Given the description of an element on the screen output the (x, y) to click on. 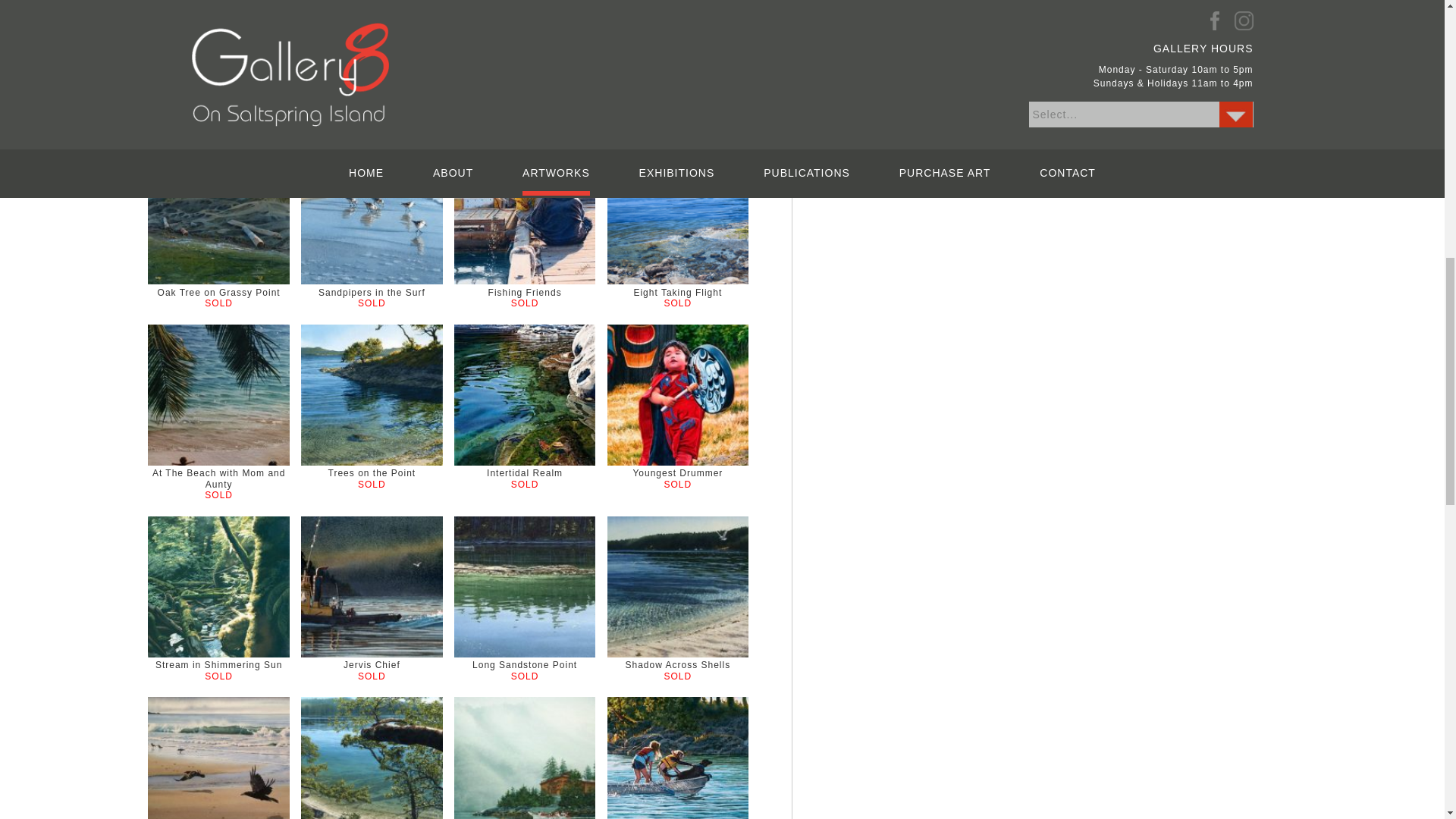
489 (911, 65)
